Given the description of an element on the screen output the (x, y) to click on. 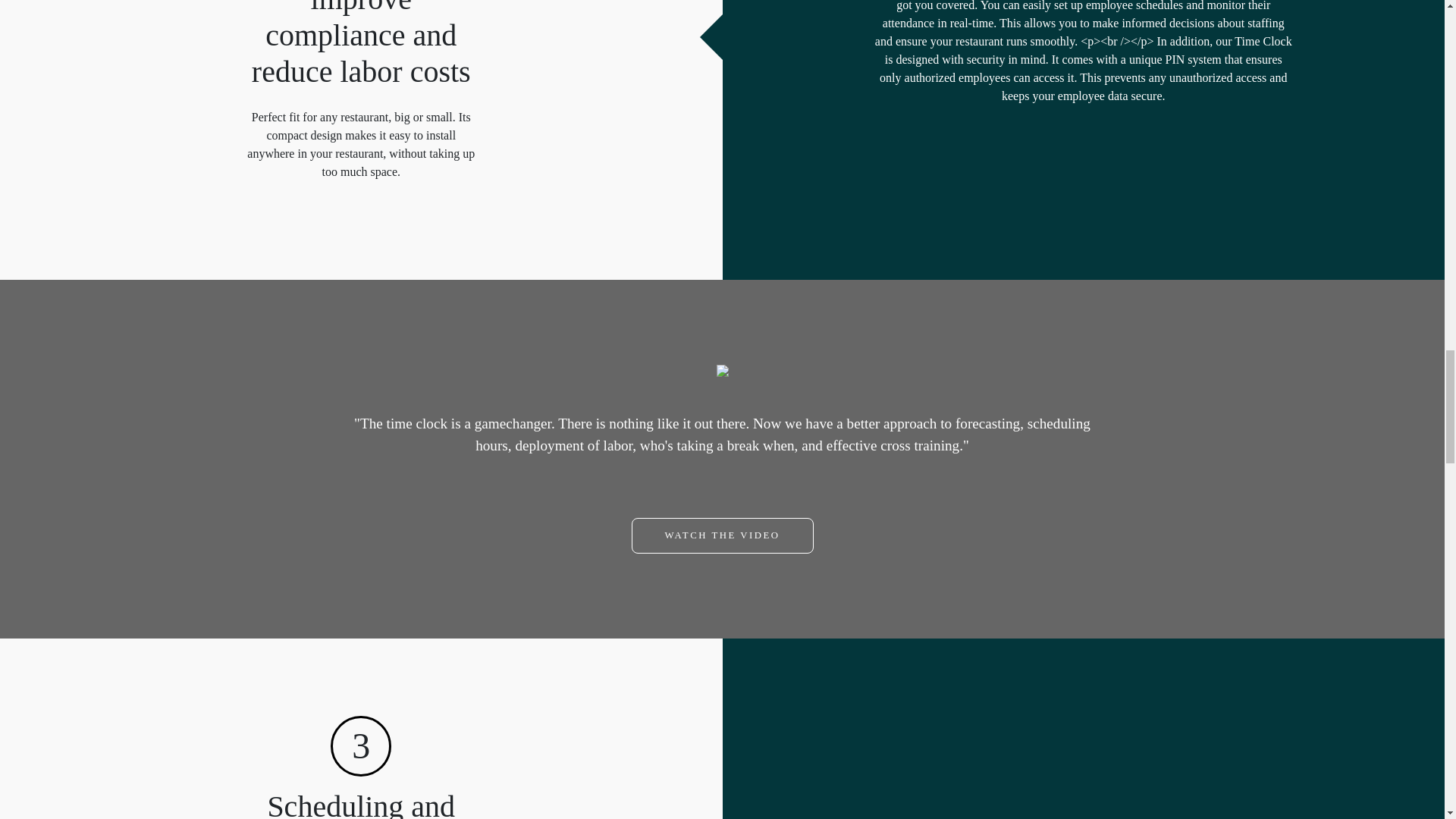
WATCH THE VIDEO (721, 535)
